Given the description of an element on the screen output the (x, y) to click on. 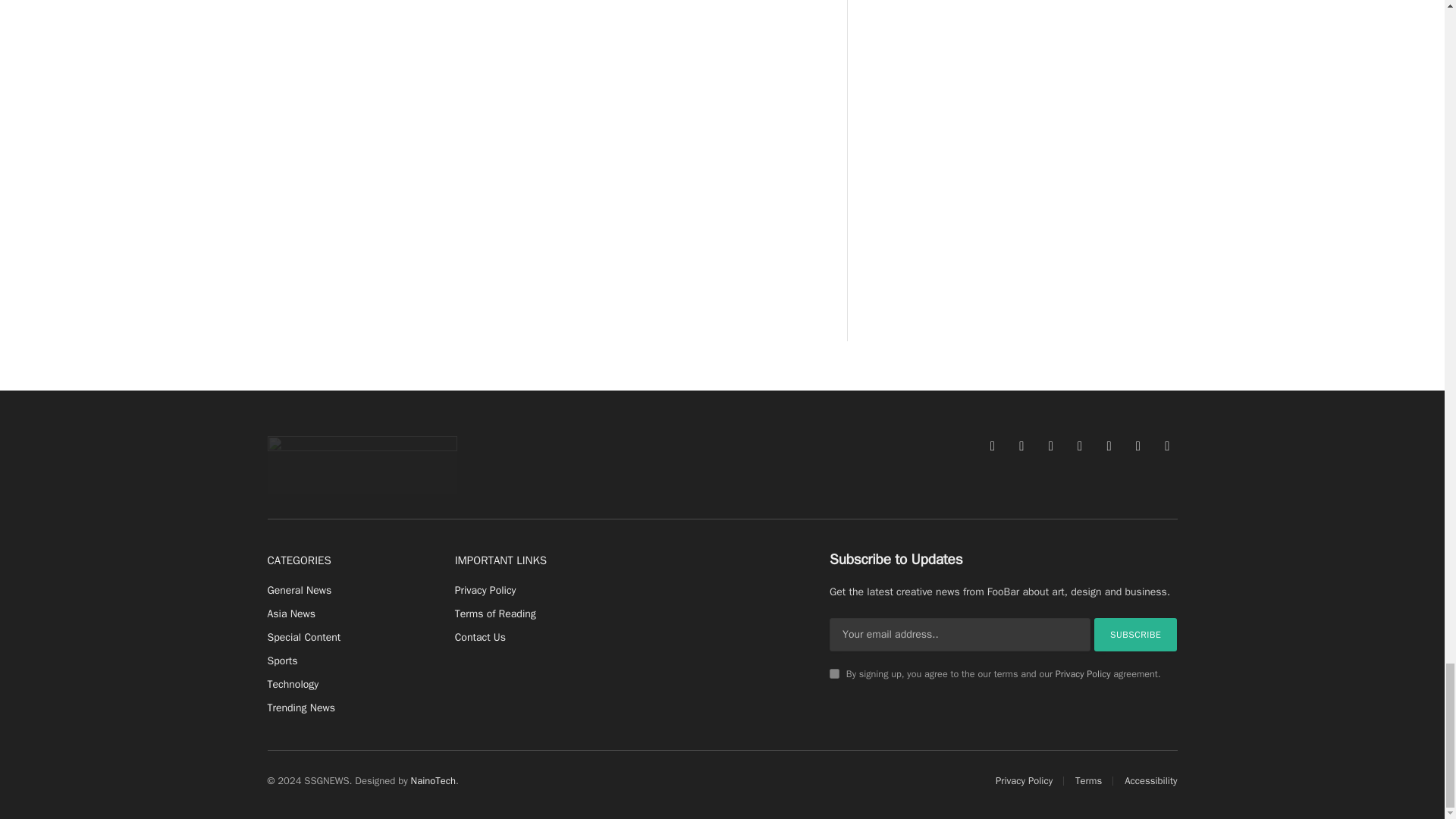
Subscribe (1135, 634)
on (834, 673)
